Given the description of an element on the screen output the (x, y) to click on. 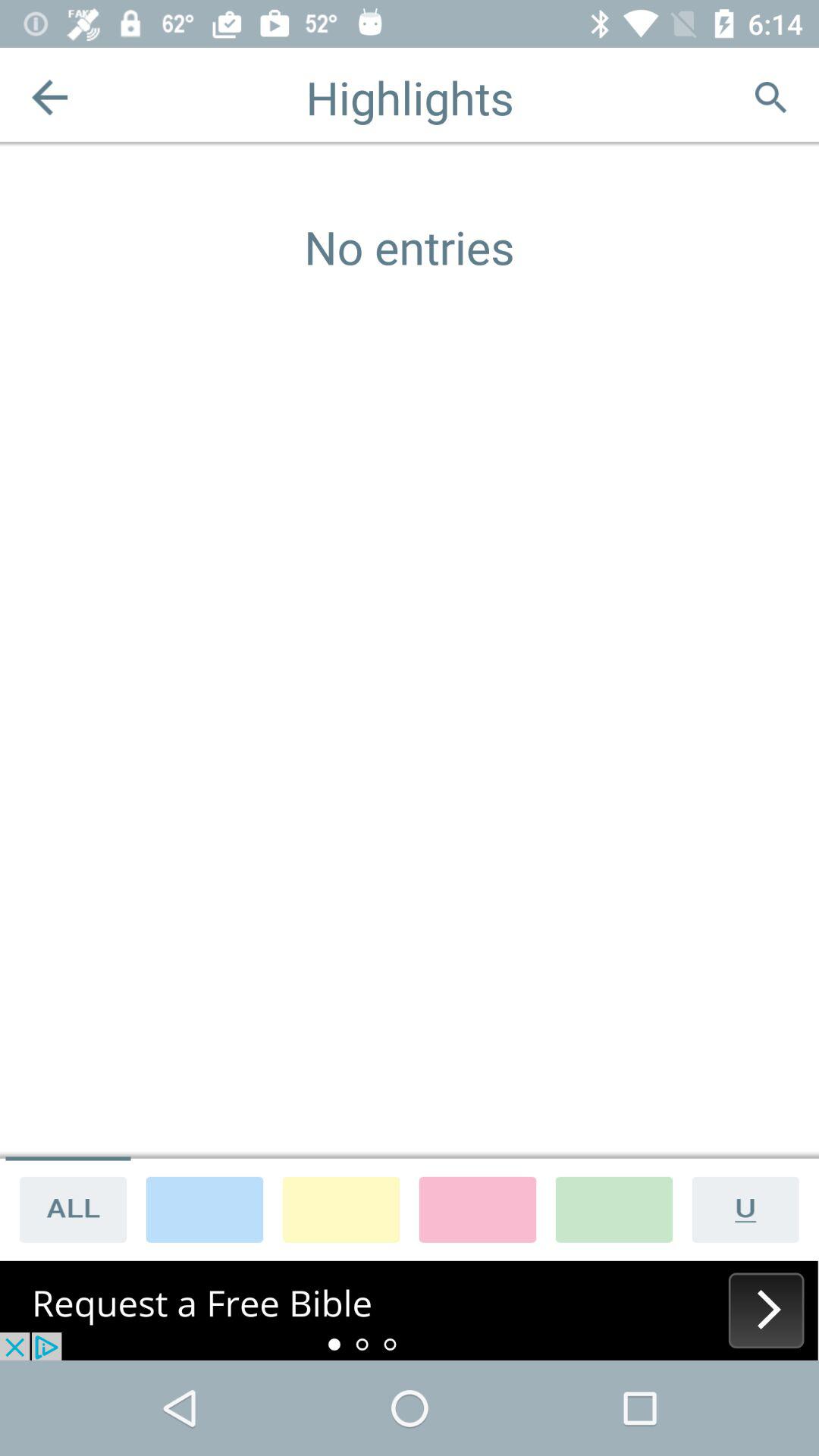
select highlight color (614, 1208)
